Given the description of an element on the screen output the (x, y) to click on. 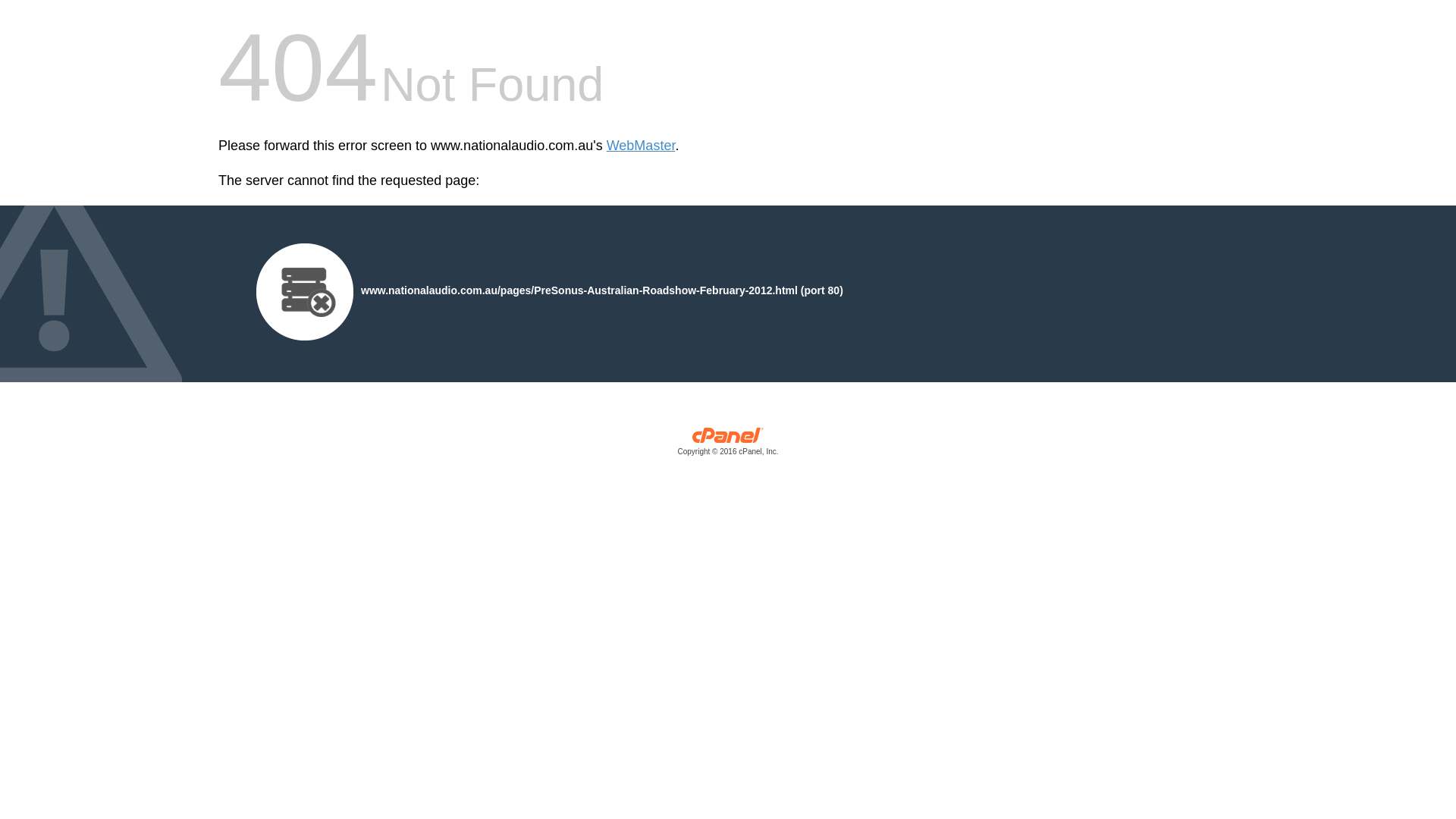
WebMaster Element type: text (640, 145)
